Given the description of an element on the screen output the (x, y) to click on. 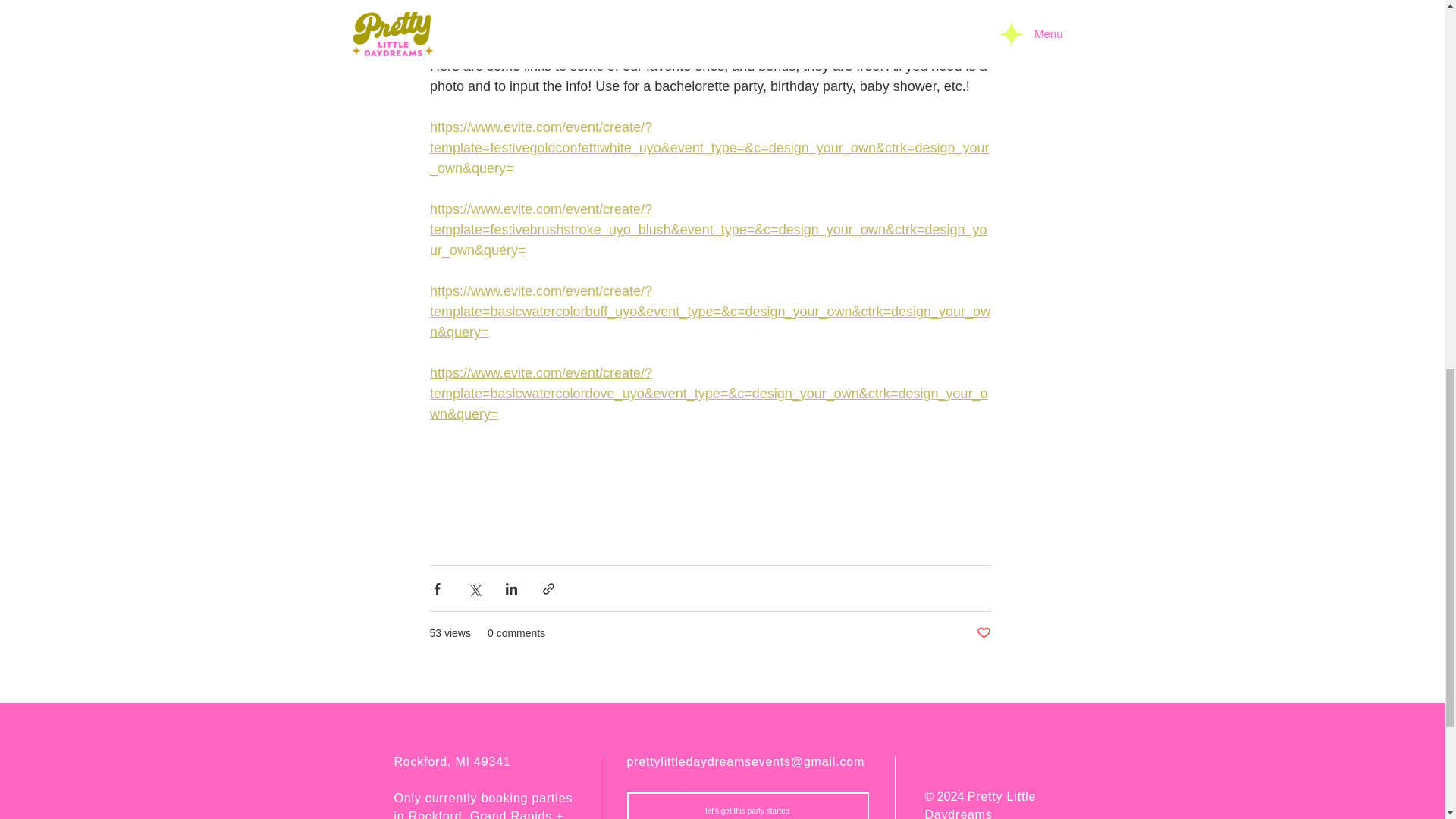
Evite.com (853, 6)
let's get this party started (746, 805)
Post not marked as liked (983, 633)
